Given the description of an element on the screen output the (x, y) to click on. 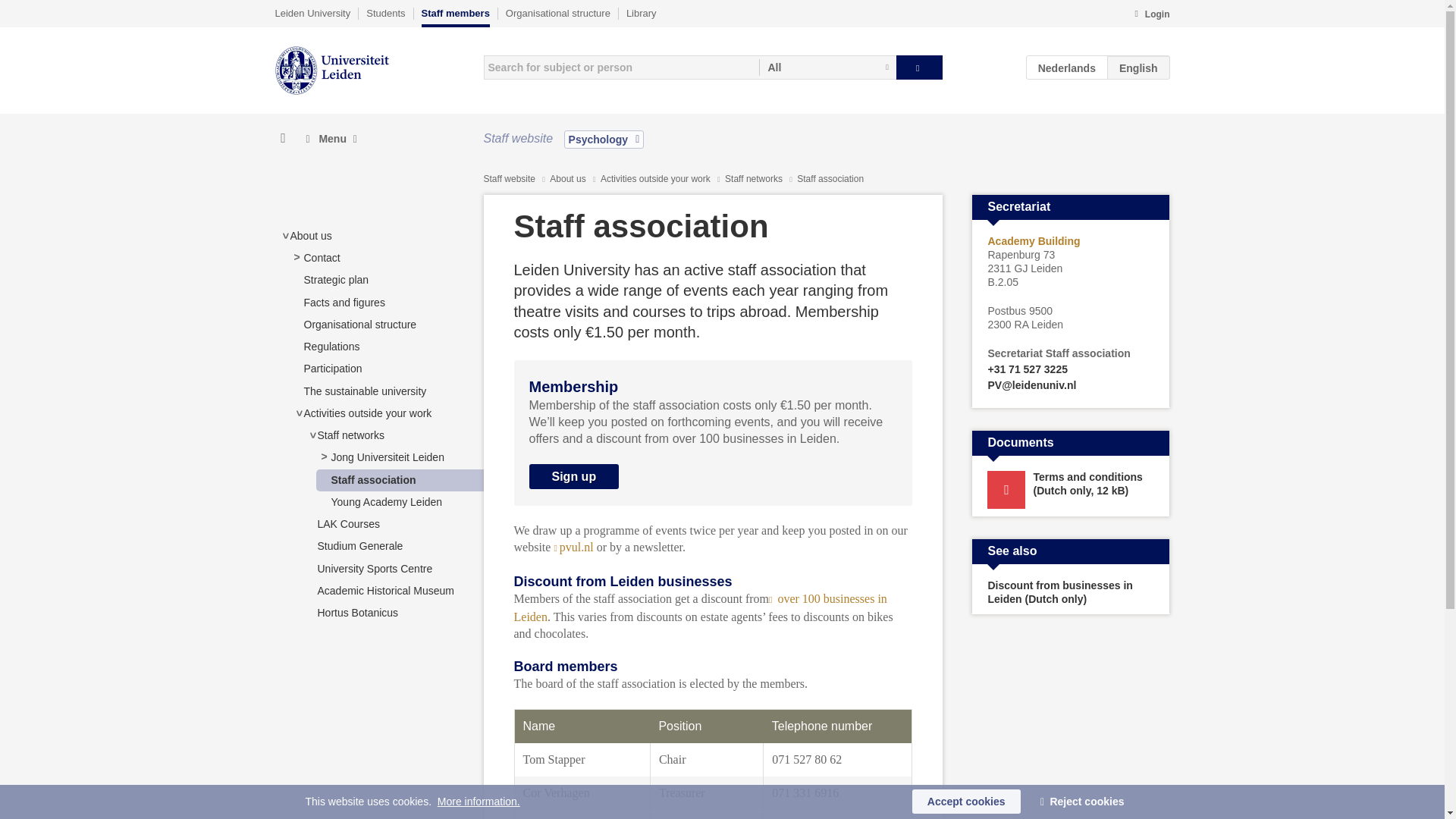
Regulations (330, 346)
Jong Universiteit Leiden (387, 457)
Students (385, 13)
All (827, 67)
About us (310, 235)
The sustainable university (364, 390)
Staff networks (350, 435)
Participation (331, 368)
Menu (330, 139)
Library (641, 13)
Organisational structure (359, 324)
University Sports Centre (374, 568)
Contact (320, 257)
Staff association (372, 480)
Login (1151, 14)
